Given the description of an element on the screen output the (x, y) to click on. 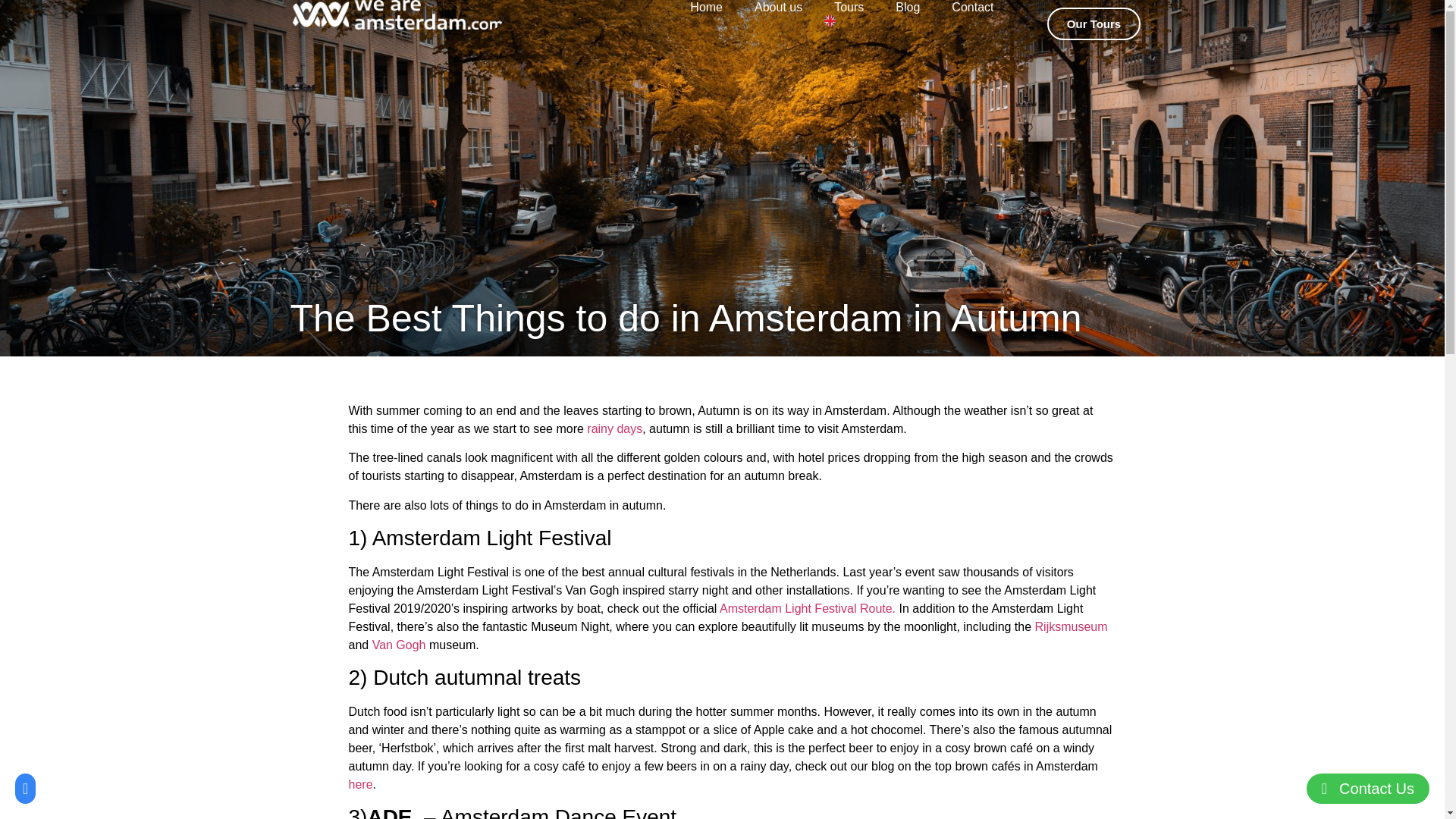
Contact (972, 7)
Van Gogh (399, 644)
rainy days (614, 428)
Home (706, 7)
Tours (848, 7)
Our Tours (1093, 23)
Rijksmuseum (1071, 626)
Amsterdam Light Festival Route. (807, 608)
here (360, 784)
About us (778, 7)
Blog (907, 7)
